Given the description of an element on the screen output the (x, y) to click on. 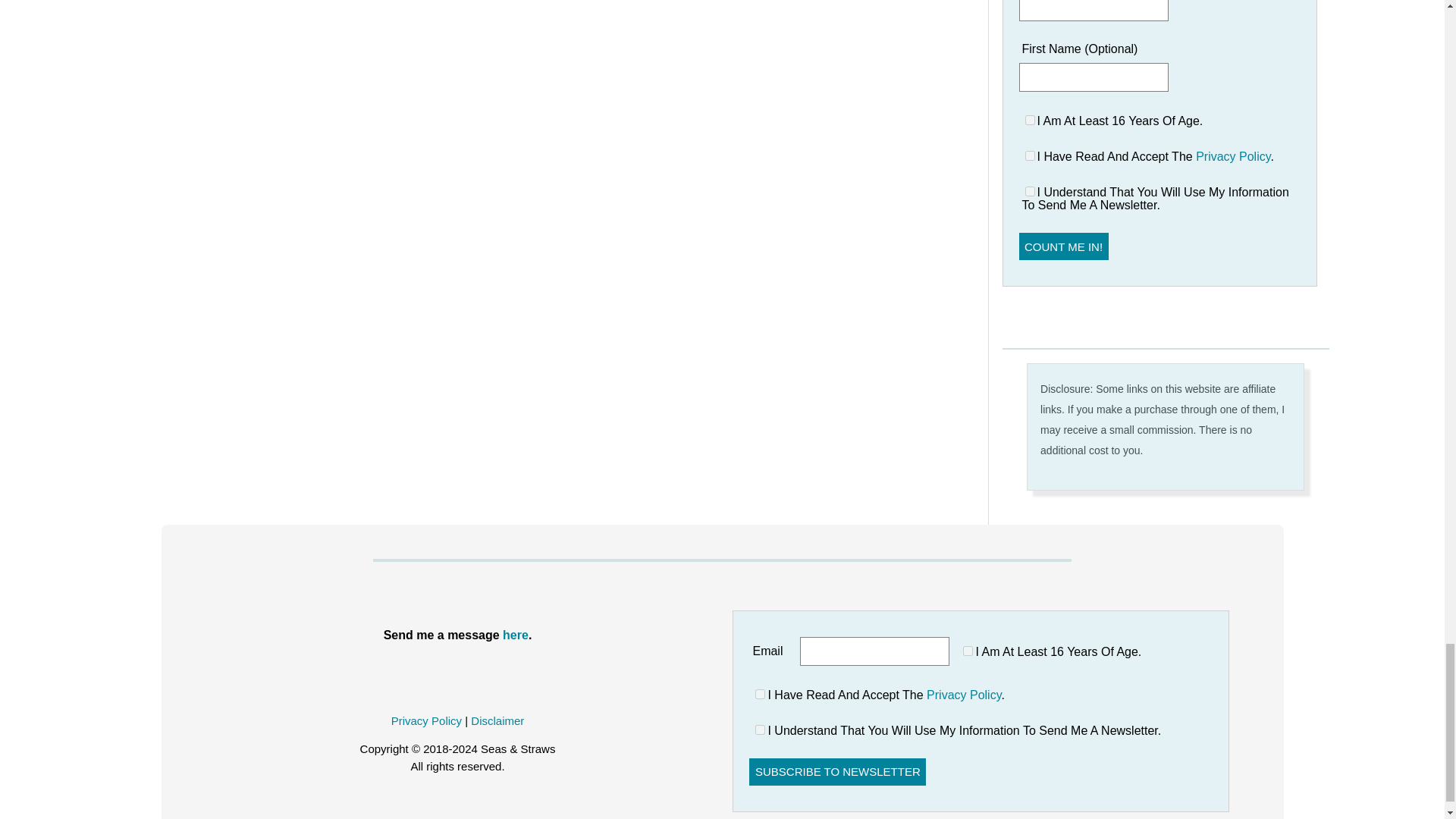
on (1030, 191)
on (760, 729)
on (967, 651)
on (760, 694)
on (1030, 155)
on (1030, 120)
